Given the description of an element on the screen output the (x, y) to click on. 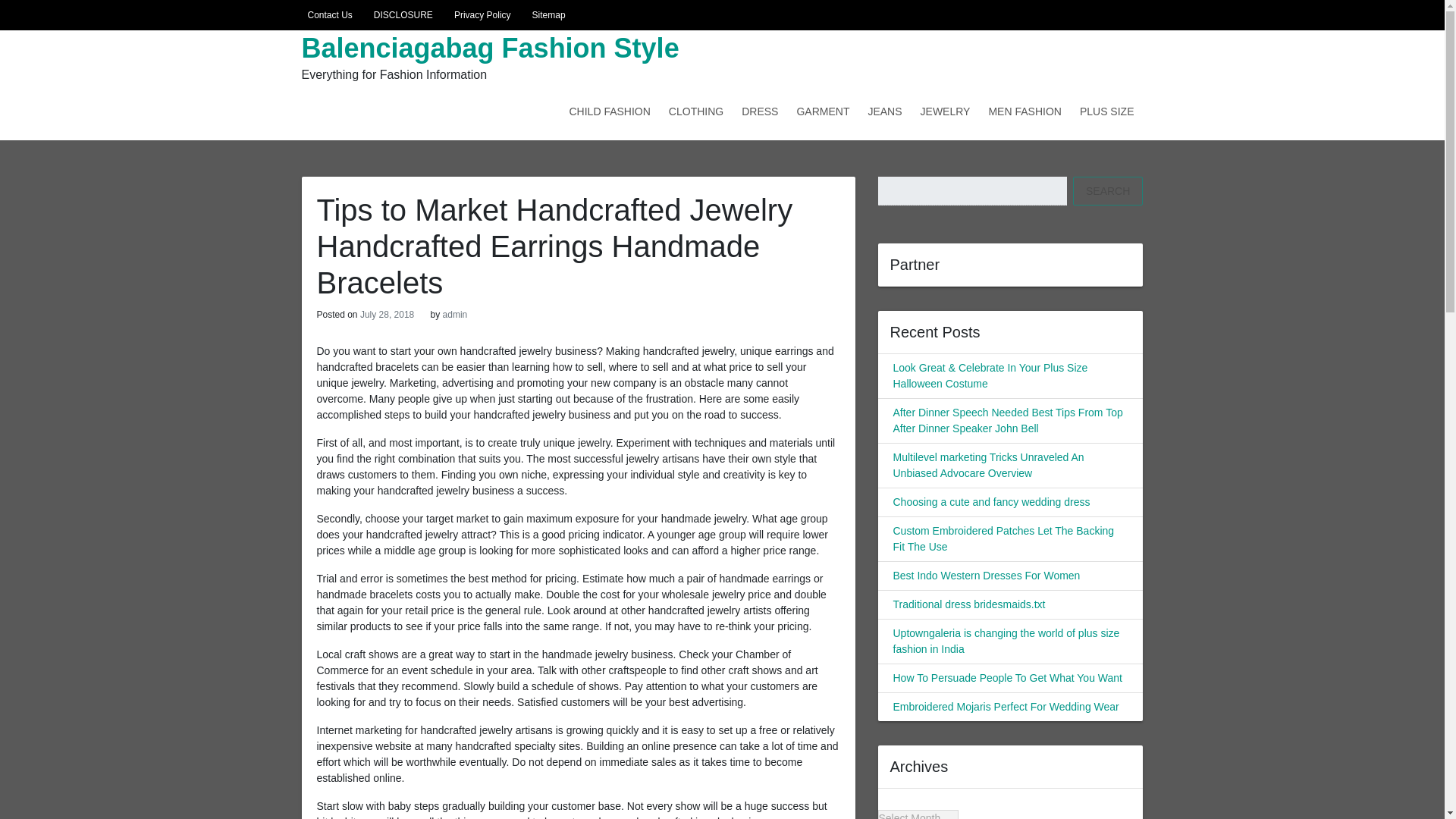
DISCLOSURE (400, 15)
Sitemap (545, 15)
Choosing a cute and fancy wedding dress (991, 501)
Embroidered Mojaris Perfect For Wedding Wear (1006, 706)
Contact Us (326, 15)
July 28, 2018 (386, 314)
PLUS SIZE (1106, 111)
CHILD FASHION (609, 111)
GARMENT (823, 111)
SEARCH (1107, 190)
admin (454, 314)
CLOTHING (695, 111)
How To Persuade People To Get What You Want (1007, 677)
